Given the description of an element on the screen output the (x, y) to click on. 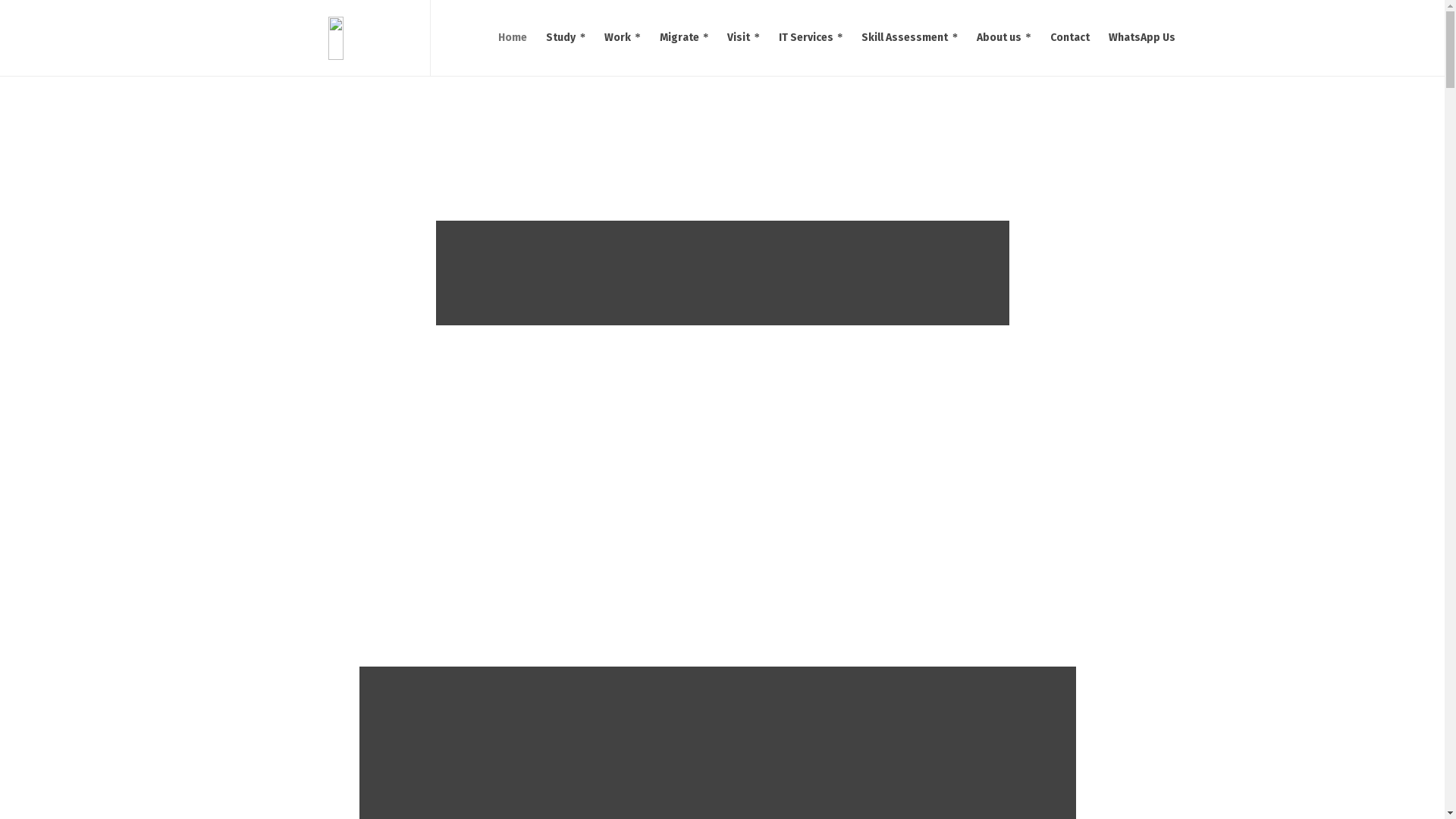
Migrate Element type: text (684, 37)
Visit Element type: text (743, 37)
Study Element type: text (565, 37)
Contact Element type: text (1069, 37)
Home Element type: text (512, 37)
IT Services Element type: text (811, 37)
About us Element type: text (1004, 37)
WhatsApp Us Element type: text (1142, 37)
Work Element type: text (622, 37)
Skill Assessment Element type: text (909, 37)
